Given the description of an element on the screen output the (x, y) to click on. 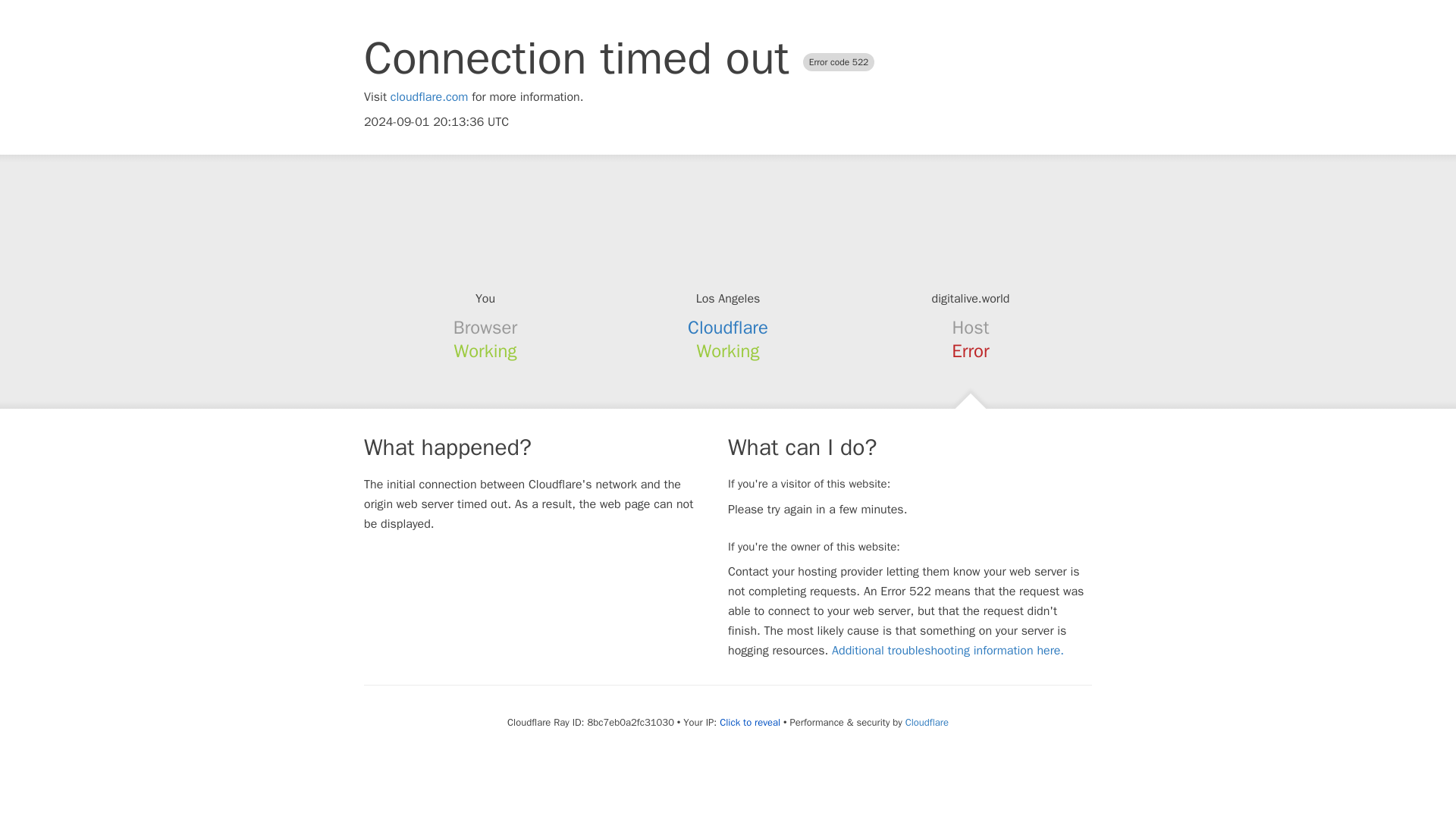
Cloudflare (727, 327)
cloudflare.com (429, 96)
Cloudflare (927, 721)
Click to reveal (749, 722)
Additional troubleshooting information here. (947, 650)
